Given the description of an element on the screen output the (x, y) to click on. 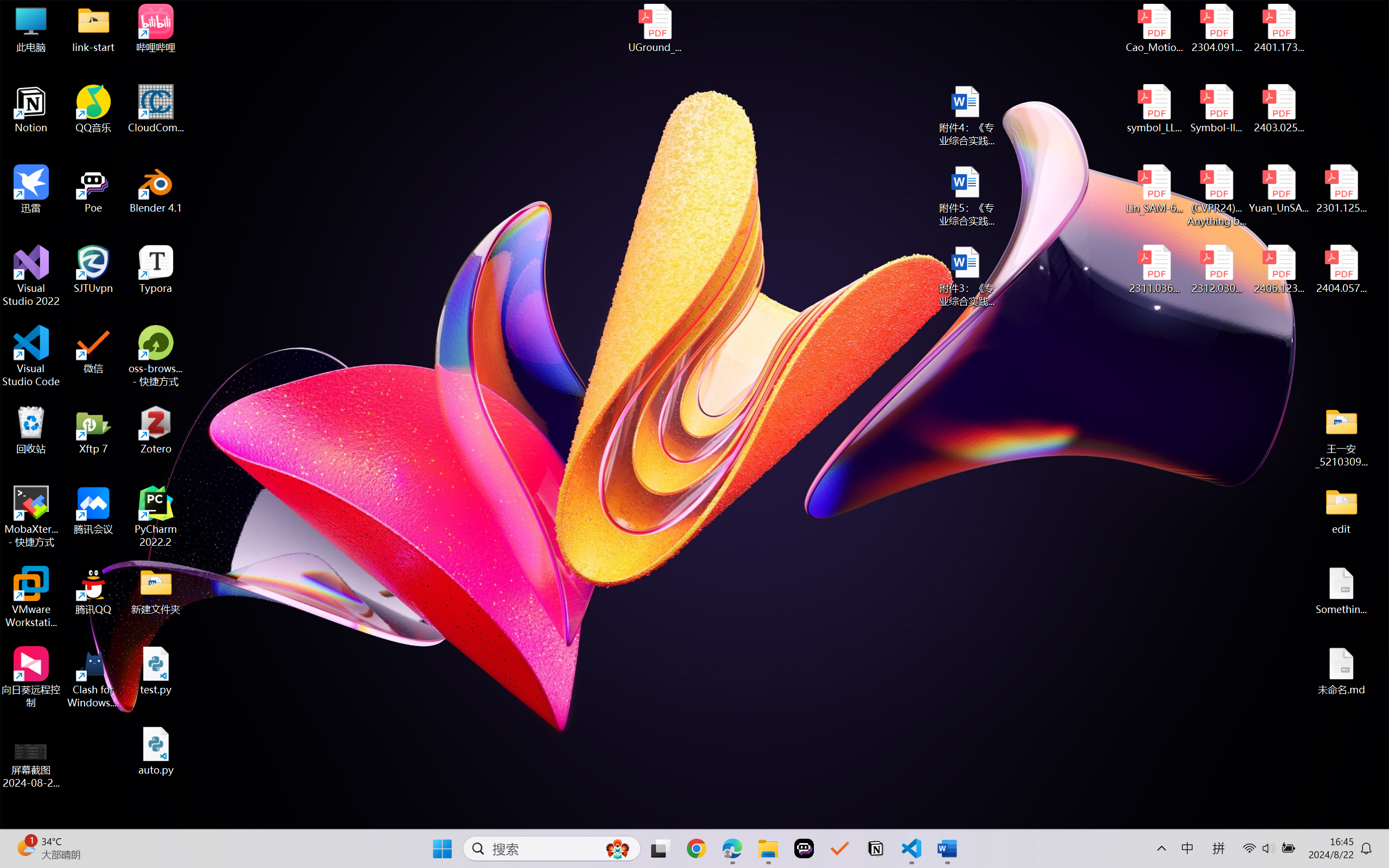
symbol_LLM.pdf (1154, 109)
2403.02502v1.pdf (1278, 109)
UGround_paper.pdf (654, 28)
Google Chrome (696, 848)
2304.09121v3.pdf (1216, 28)
